Given the description of an element on the screen output the (x, y) to click on. 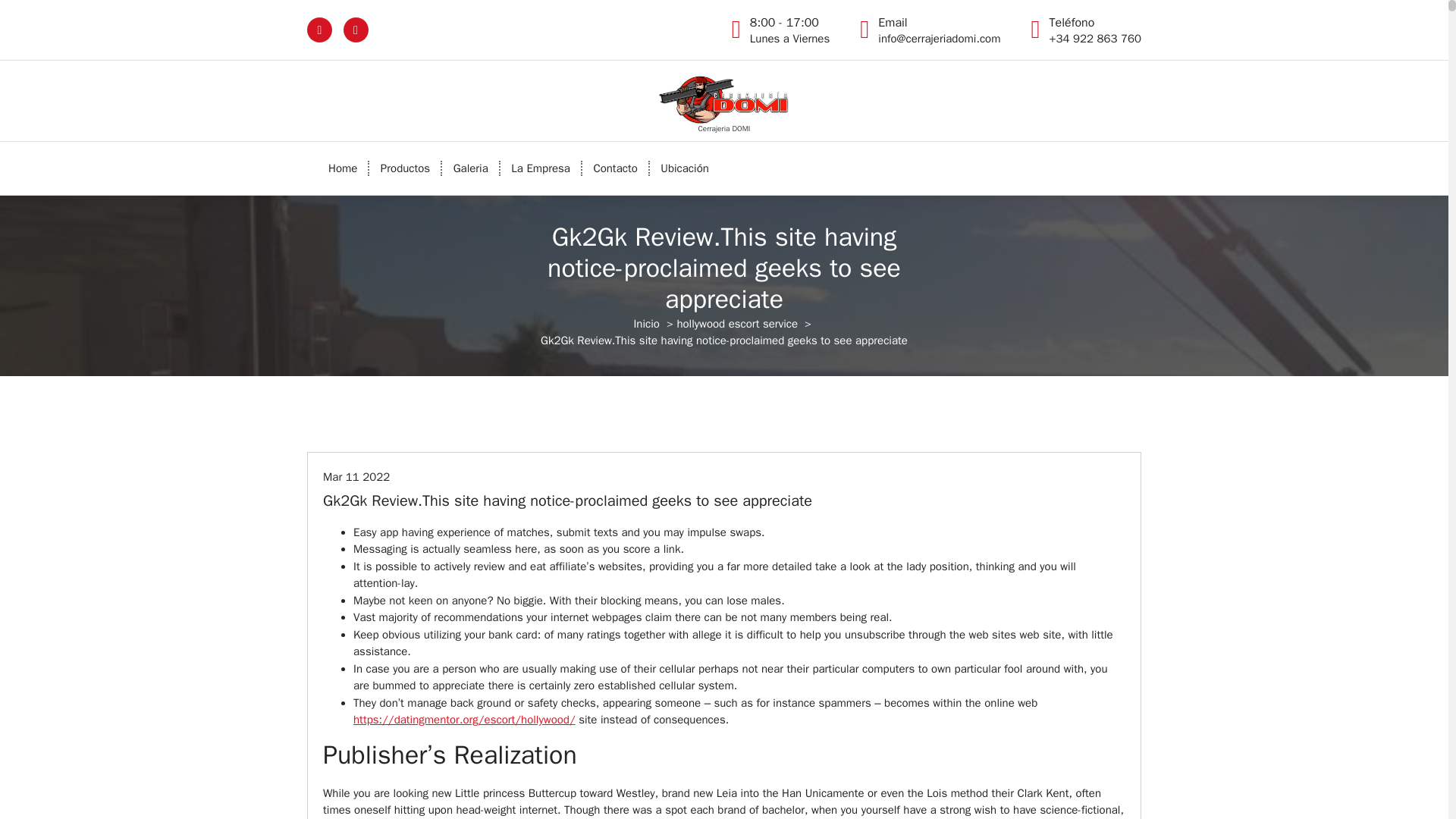
Productos (789, 30)
Contacto (405, 167)
Inicio (614, 167)
La Empresa (646, 323)
Home (540, 167)
La Empresa (342, 167)
Contacto (540, 167)
hollywood escort service (614, 167)
Mar 11 2022 (737, 323)
Productos (356, 477)
Galeria (405, 167)
Home (470, 167)
Galeria (342, 167)
